Given the description of an element on the screen output the (x, y) to click on. 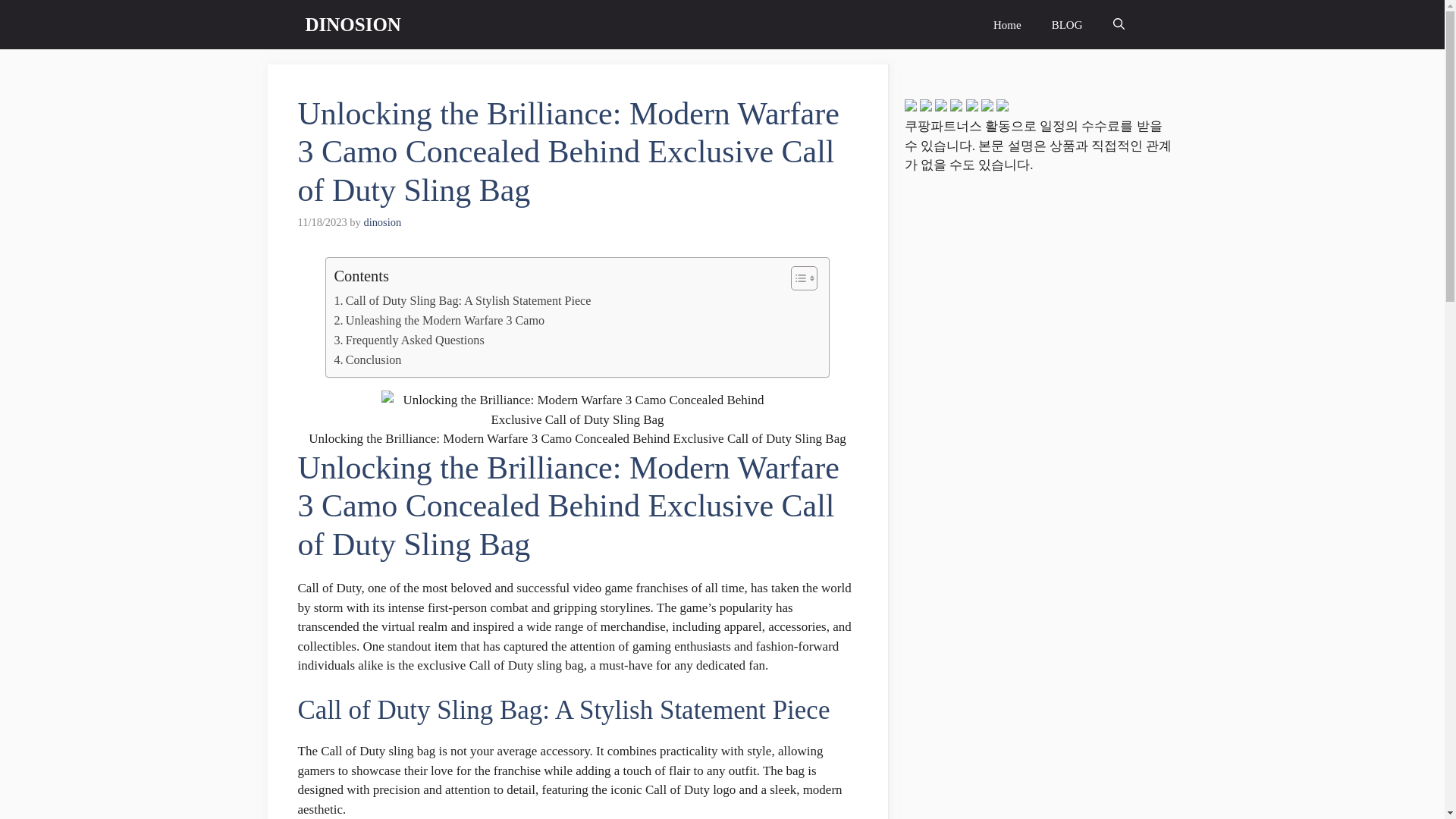
dinosion (381, 222)
DINOSION (352, 24)
Unleashing the Modern Warfare 3 Camo (438, 320)
Unleashing the Modern Warfare 3 Camo (438, 320)
Call of Duty Sling Bag: A Stylish Statement Piece (462, 301)
Home (1007, 23)
View all posts by dinosion (381, 222)
Frequently Asked Questions (408, 340)
BLOG (1066, 23)
